Given the description of an element on the screen output the (x, y) to click on. 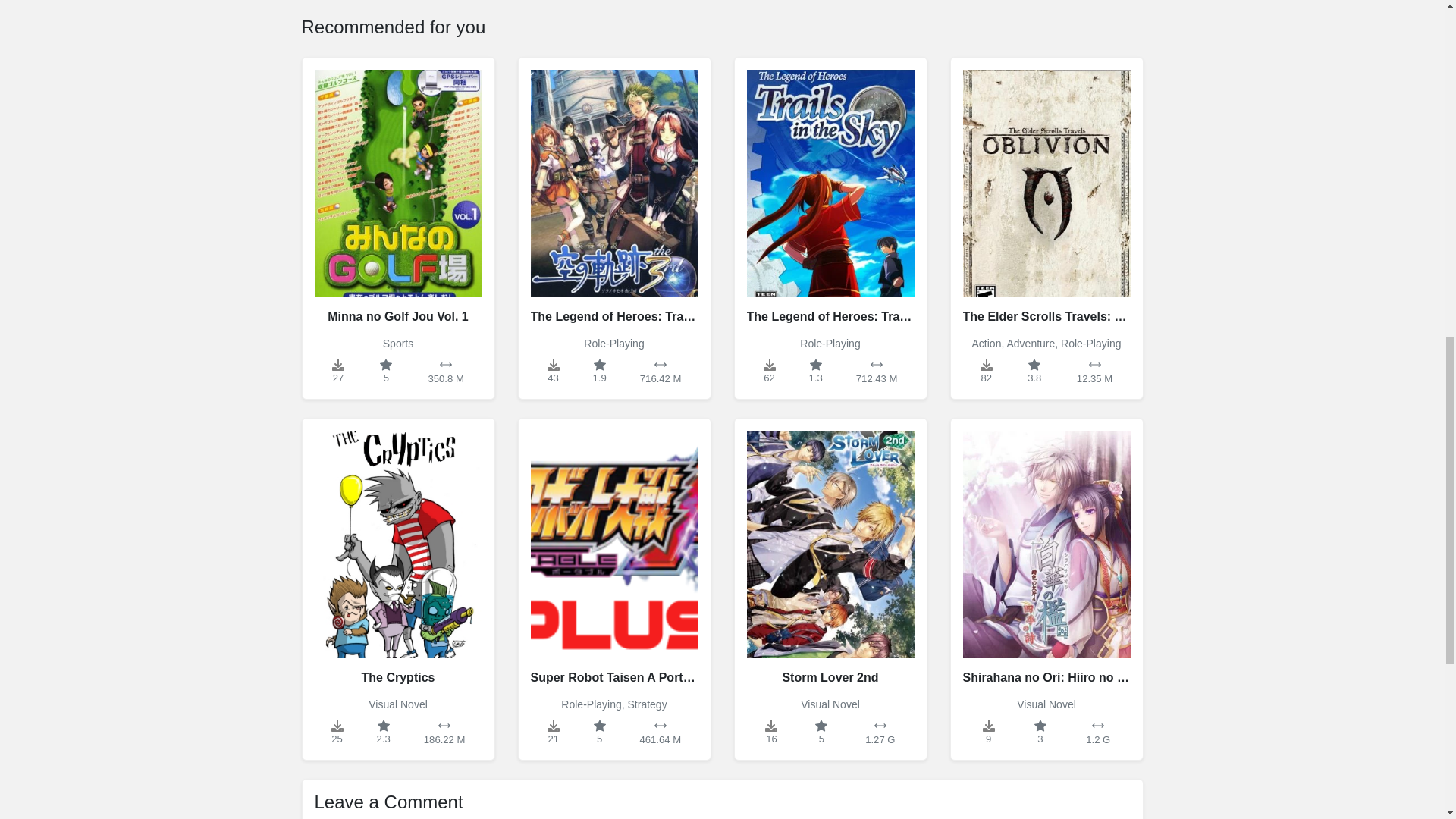
Strategy (646, 704)
Super Robot Taisen A Portable Plus (614, 557)
The Legend of Heroes: Trails in the Sky FC (829, 196)
The Legend of Heroes: Trails in the Sky the 3rd (614, 196)
Role-Playing (1091, 343)
The Elder Scrolls Travels: Oblivion (1046, 196)
Role-Playing (613, 343)
Visual Novel (398, 704)
Action (986, 343)
Role-Playing (829, 343)
Role-Playing (590, 704)
Adventure (1030, 343)
Sports (397, 343)
Minna no Golf Jou Vol. 1 (397, 196)
Storm Lover 2nd (829, 557)
